Given the description of an element on the screen output the (x, y) to click on. 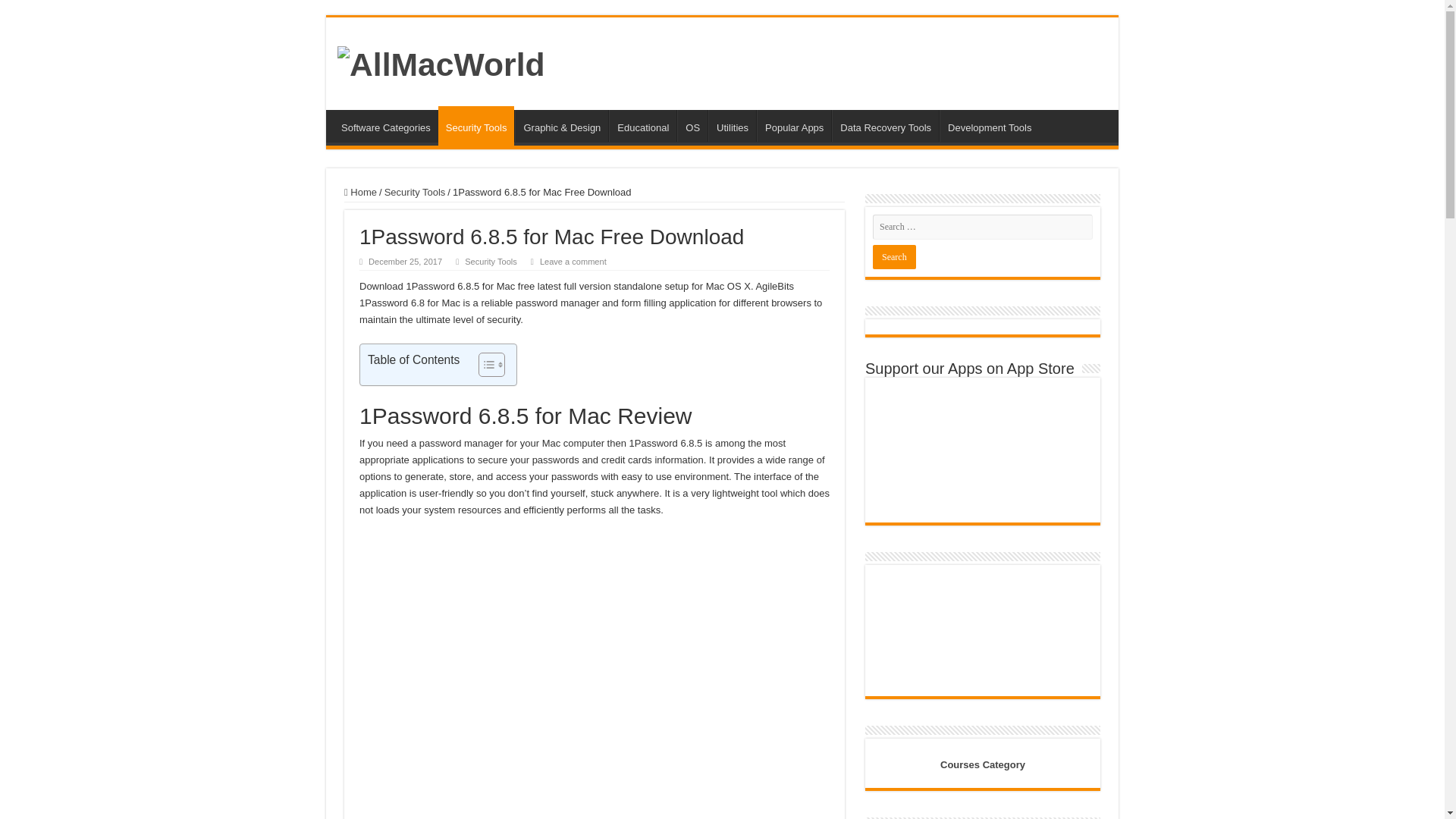
Search (893, 256)
Leave a comment (573, 261)
Popular Apps (794, 125)
Home (360, 192)
Data Recovery Tools (885, 125)
Educational (642, 125)
Search (893, 256)
Software Categories (385, 125)
Security Tools (490, 261)
Security Tools (414, 192)
